Given the description of an element on the screen output the (x, y) to click on. 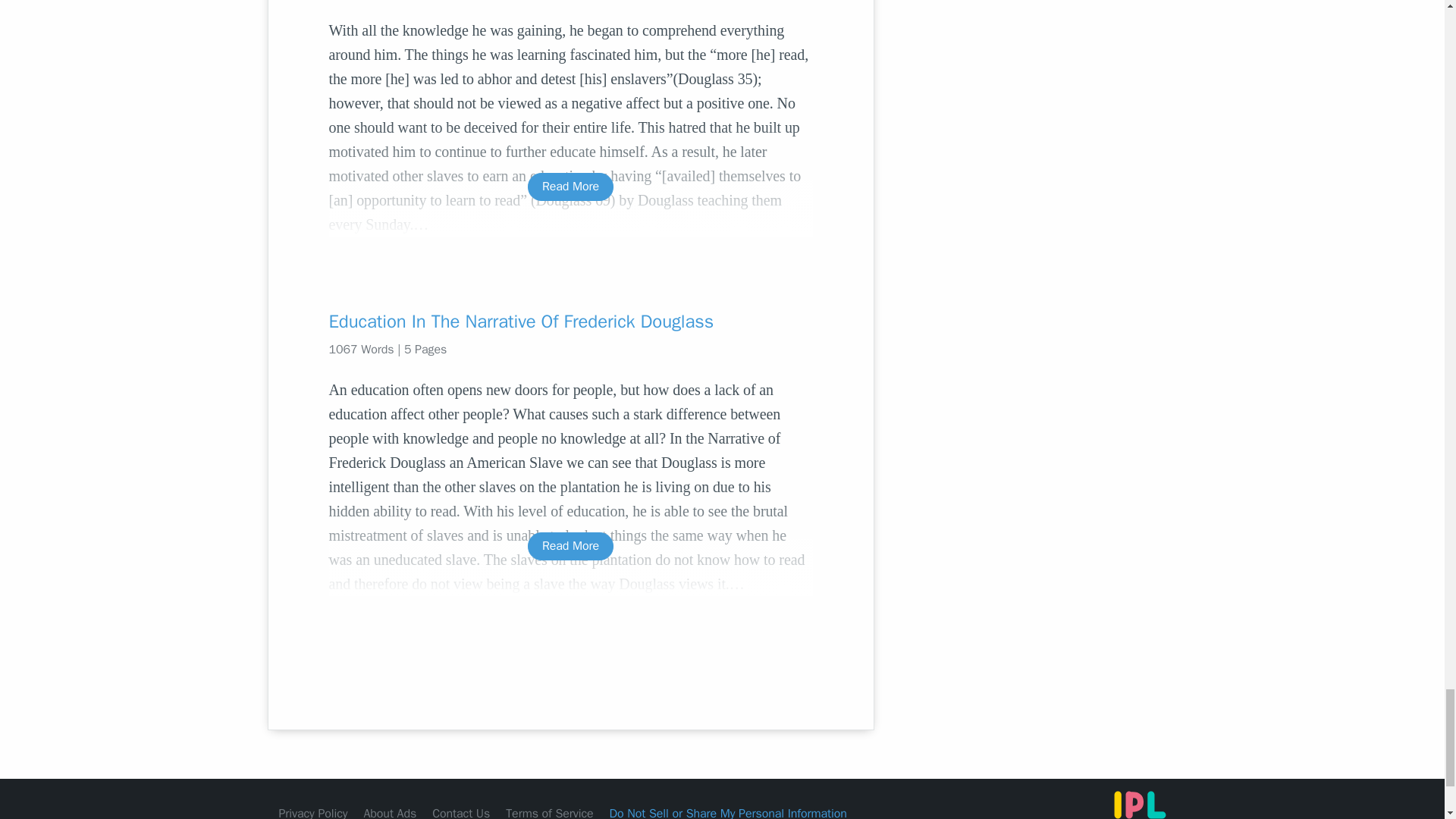
Privacy Policy (313, 812)
About Ads (389, 812)
Terms of Service (548, 812)
Contact Us (460, 812)
